Given the description of an element on the screen output the (x, y) to click on. 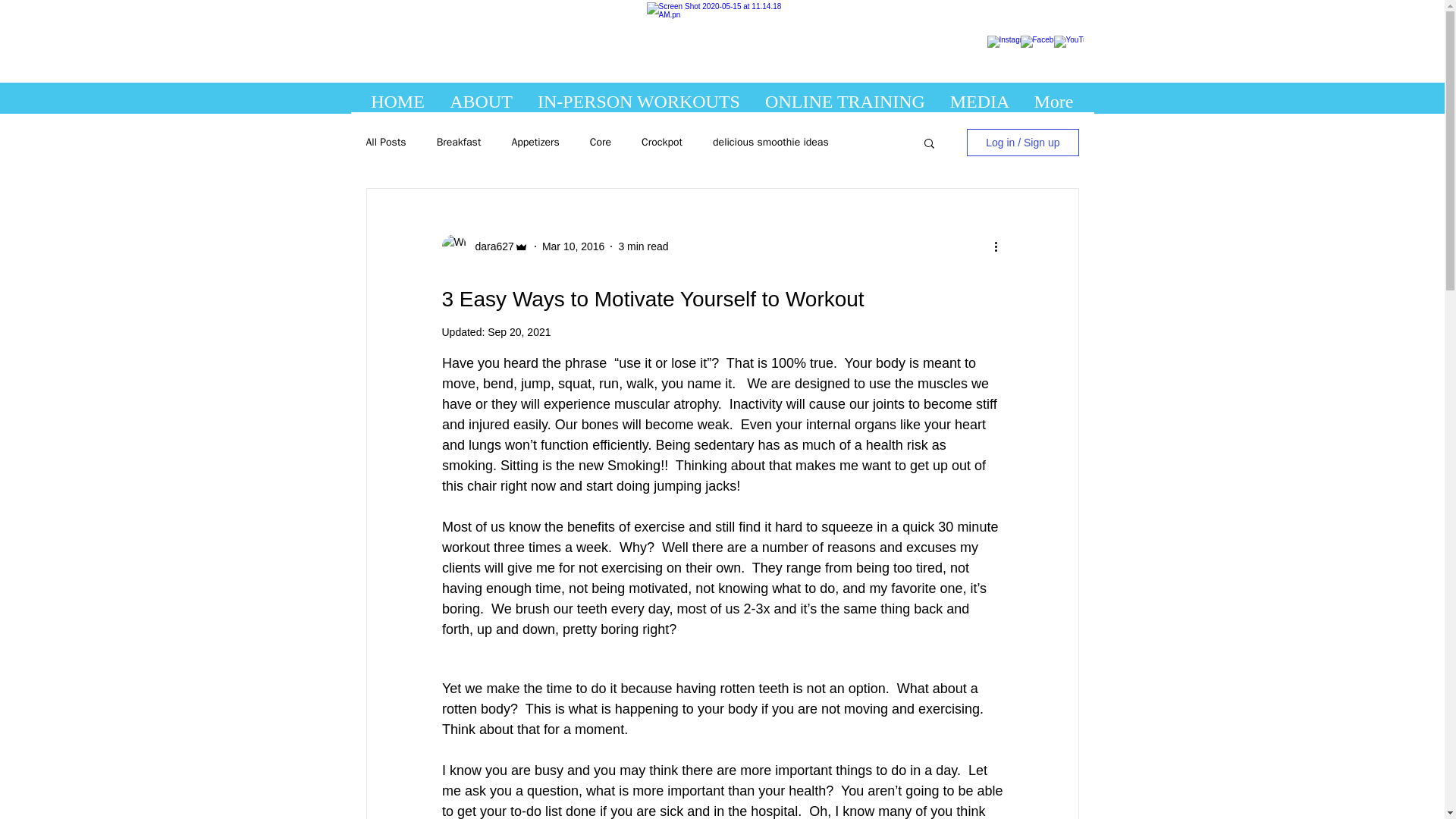
Crockpot (662, 142)
Breakfast (458, 142)
Sep 20, 2021 (518, 331)
3 min read (642, 245)
Core (600, 142)
HOME (397, 98)
dara627 (489, 245)
delicious smoothie ideas (770, 142)
MEDIA (979, 98)
ONLINE TRAINING (844, 98)
Mar 10, 2016 (573, 245)
All Posts (385, 142)
ABOUT (480, 98)
IN-PERSON WORKOUTS (638, 98)
Appetizers (535, 142)
